Given the description of an element on the screen output the (x, y) to click on. 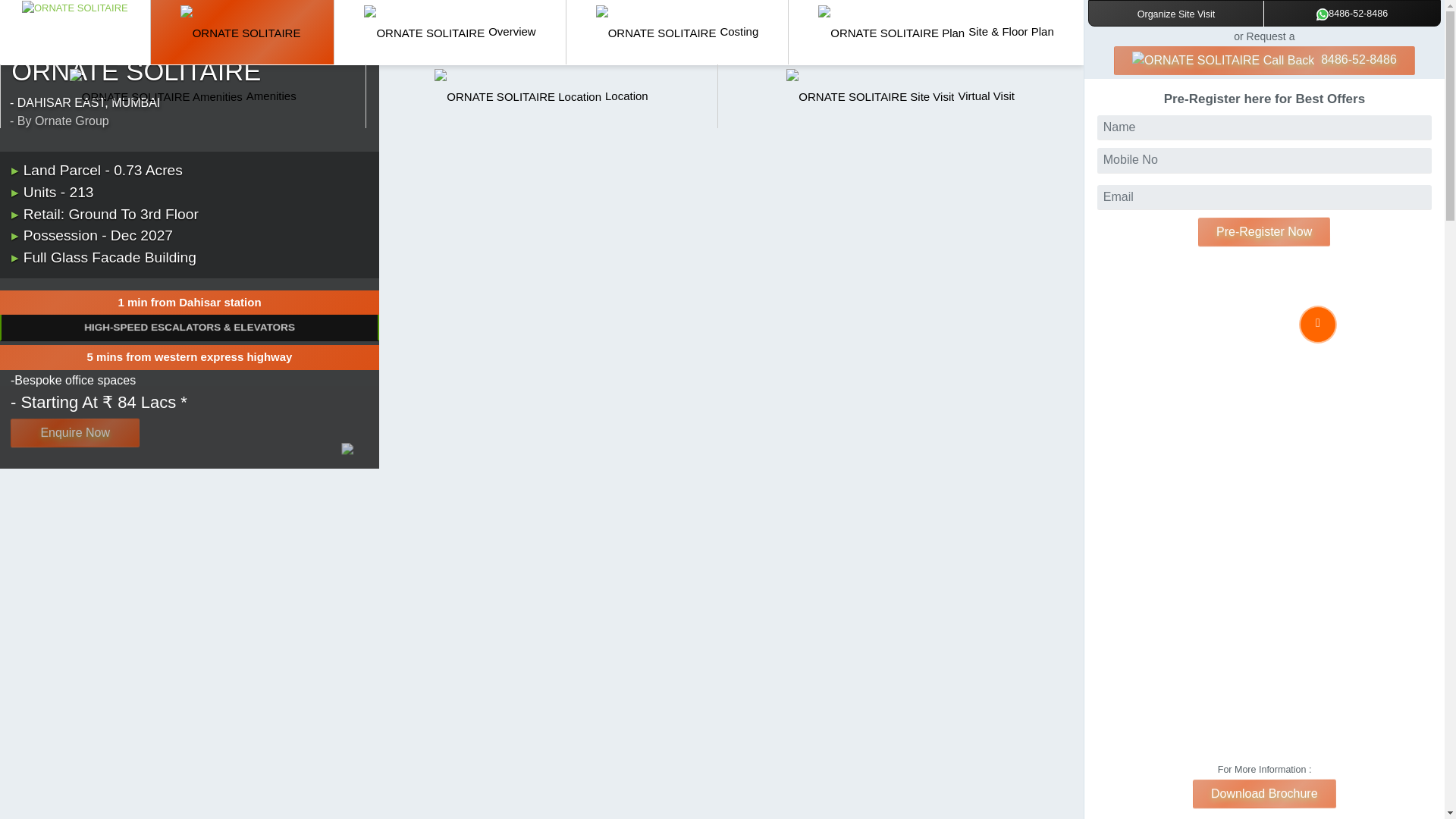
Enquire Now (74, 432)
ORNATE SOLITAIRE (540, 96)
Download Brochure (1264, 793)
Virtual Visit (900, 96)
Location (540, 96)
ORNATE SOLITAIRE (900, 96)
ORNATE-SOLITAIRE (242, 32)
Amenities (183, 96)
ORNATE SOLITAIRE (936, 32)
ORNATE SOLITAIRE (74, 7)
